Given the description of an element on the screen output the (x, y) to click on. 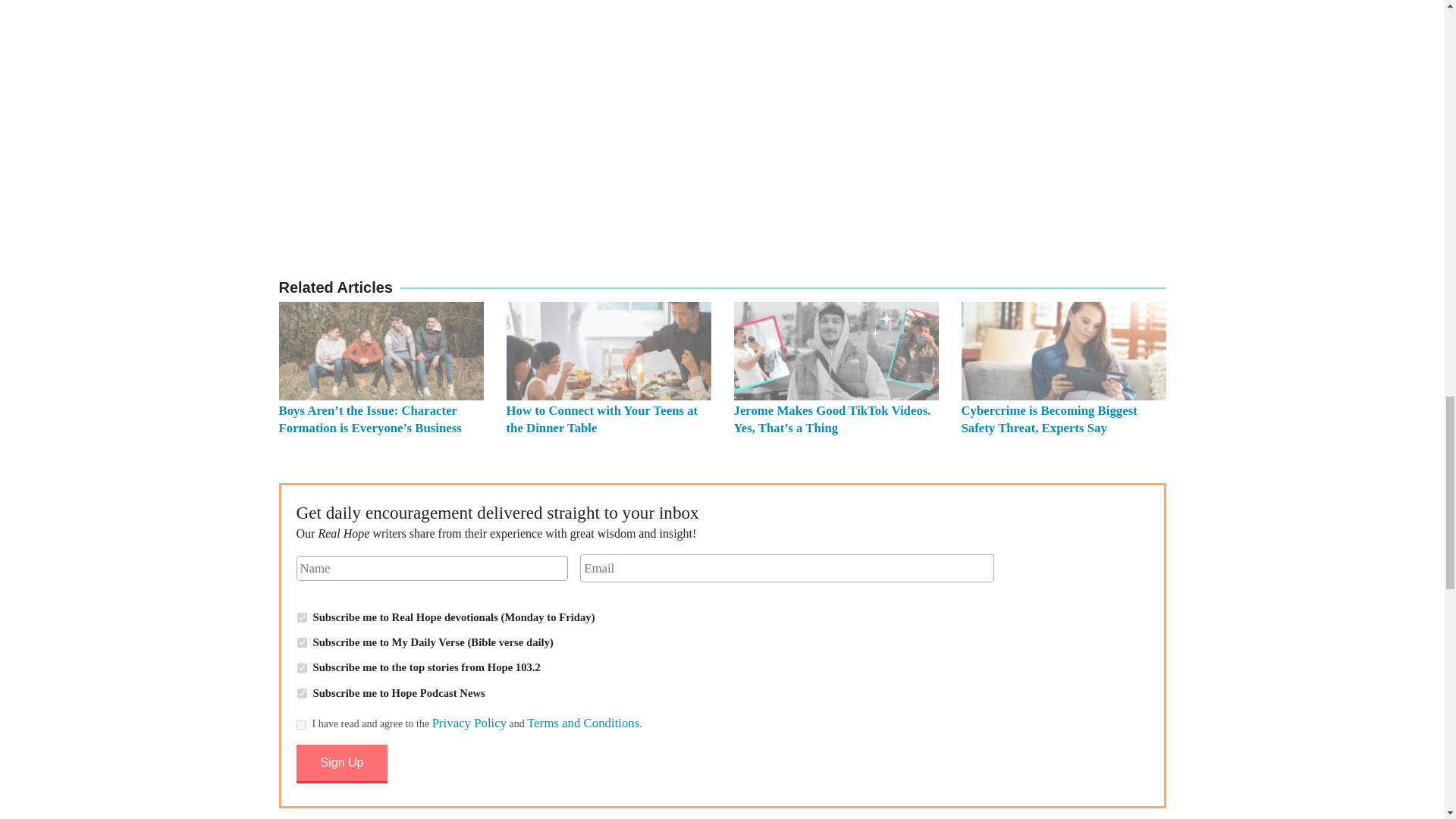
Sign Up (341, 763)
Cybercrime is Becoming Biggest Safety Threat, Experts Say (1048, 418)
How to Connect with Your Teens at the Dinner Table (602, 418)
Cybercrime is Becoming Biggest Safety Threat, Experts Say (1063, 351)
How to Connect with Your Teens at the Dinner Table (608, 351)
